Given the description of an element on the screen output the (x, y) to click on. 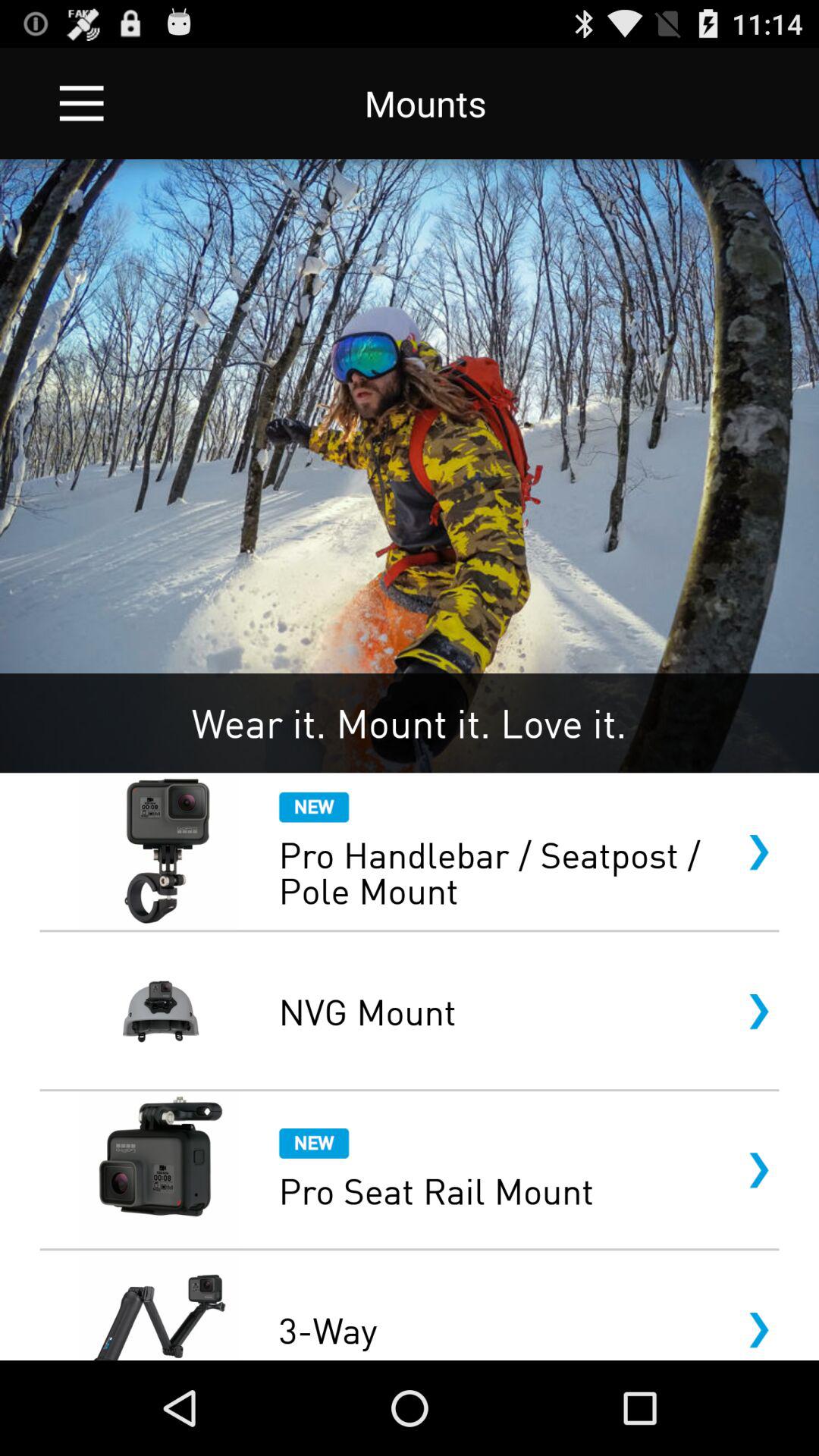
settings (81, 102)
